Given the description of an element on the screen output the (x, y) to click on. 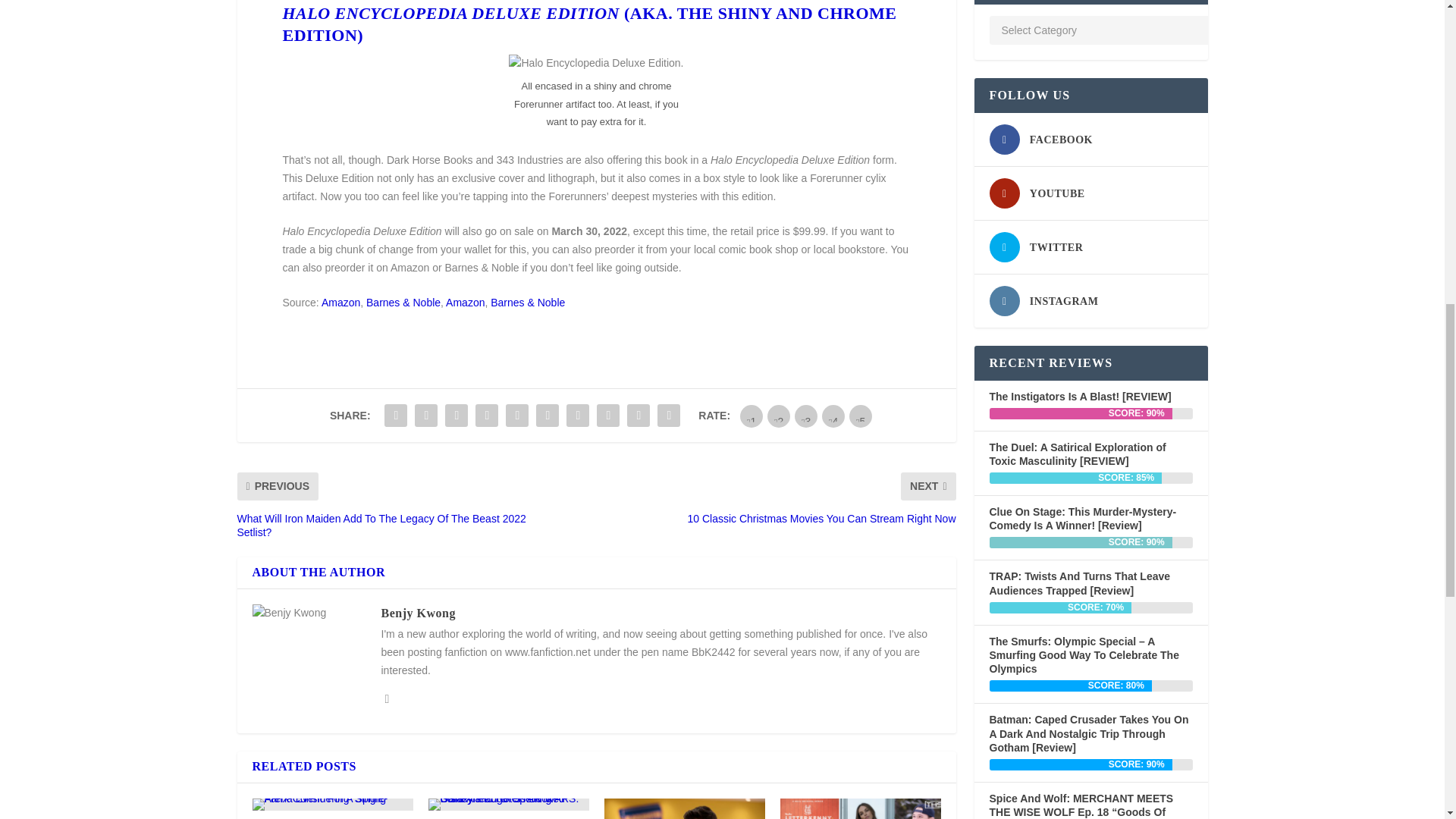
bad (750, 415)
